Given the description of an element on the screen output the (x, y) to click on. 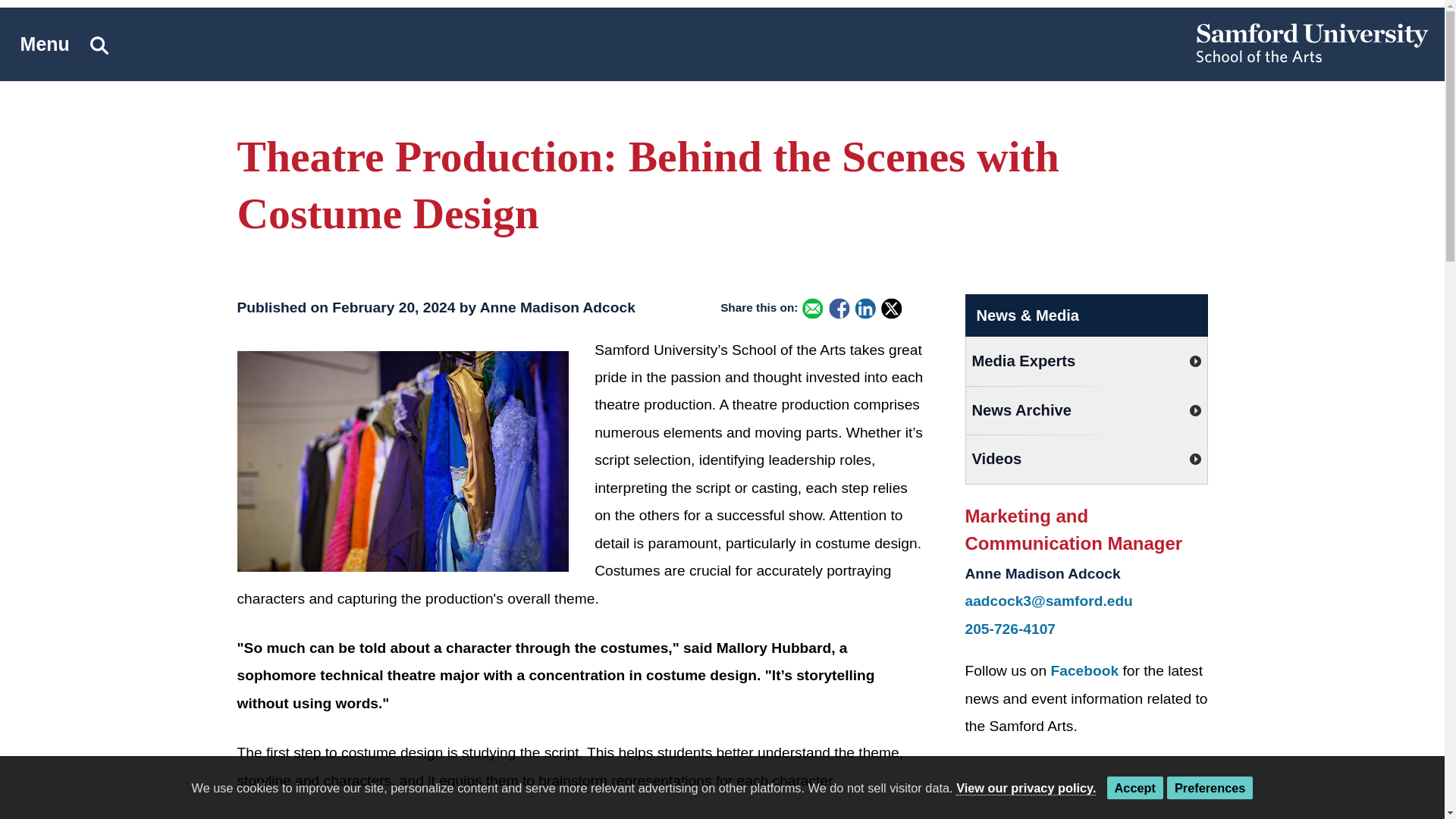
SamfordArts (1085, 670)
